Given the description of an element on the screen output the (x, y) to click on. 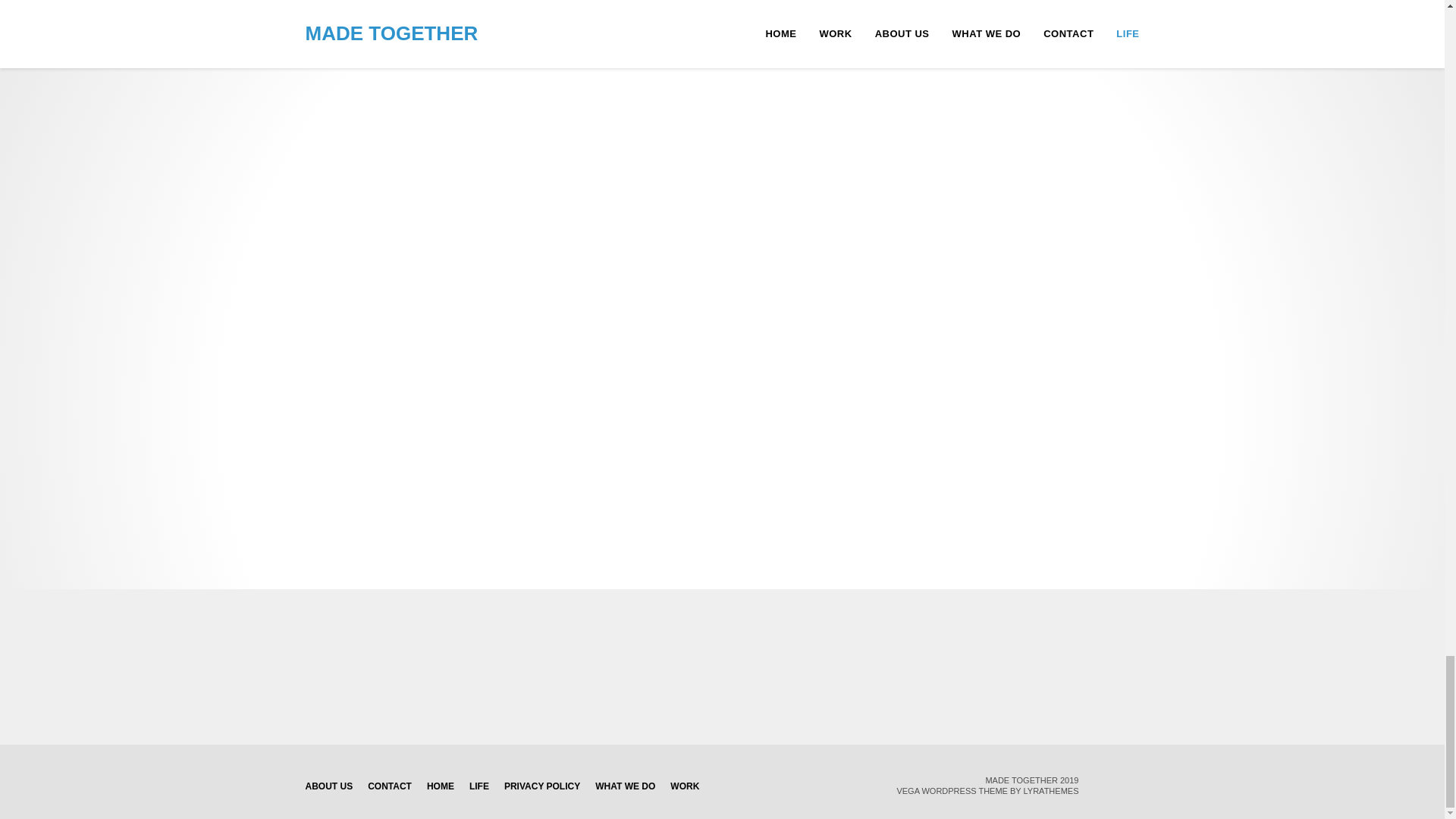
LYRATHEMES (1050, 790)
CONTACT (390, 786)
PRIVACY POLICY (541, 786)
ABOUT US (328, 786)
HOME (440, 786)
WHAT WE DO (625, 786)
LIFE (478, 786)
WORK (683, 786)
